Given the description of an element on the screen output the (x, y) to click on. 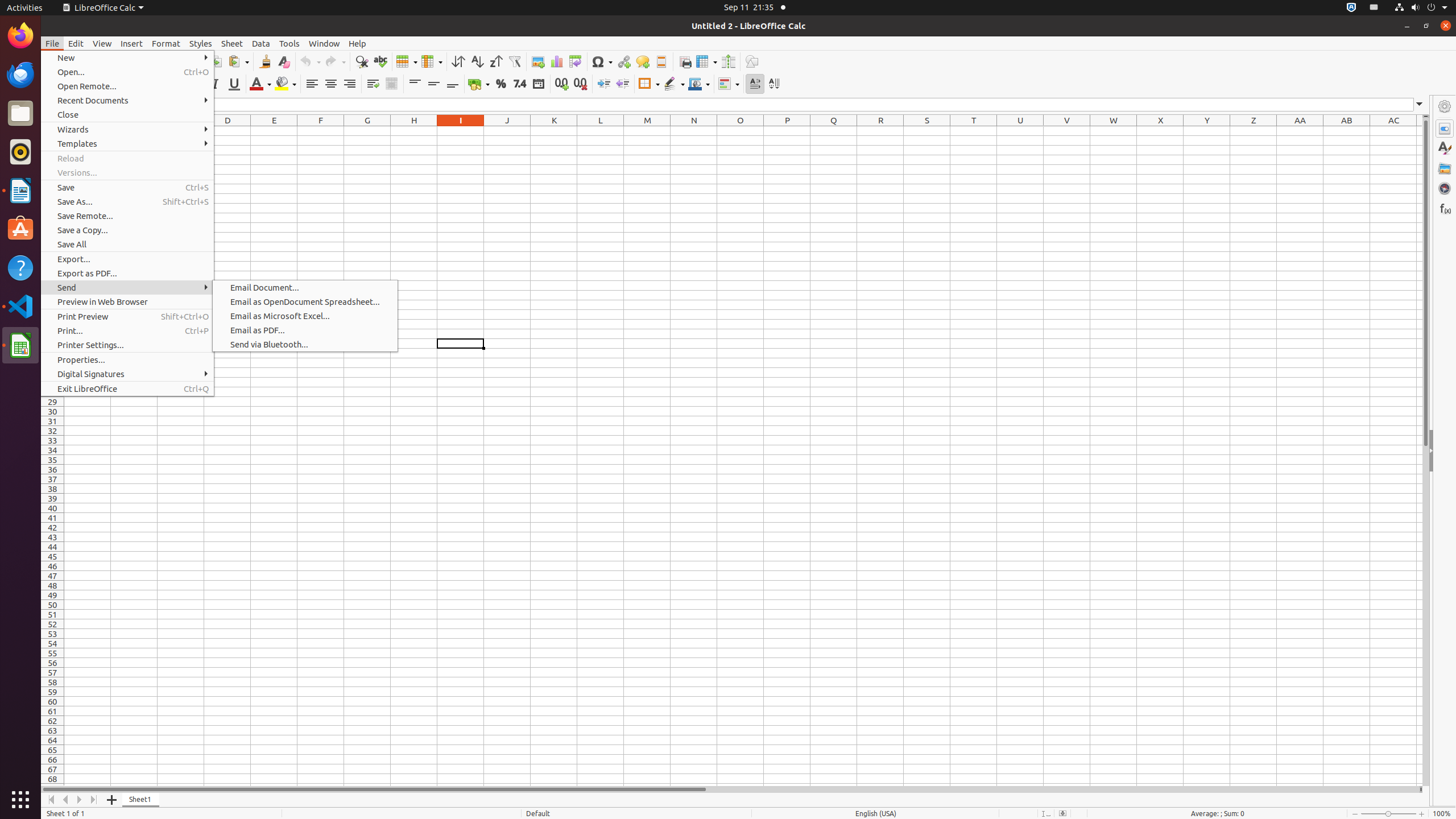
O1 Element type: table-cell (740, 130)
L1 Element type: table-cell (600, 130)
Paste Element type: push-button (237, 61)
Email as PDF... Element type: menu-item (304, 330)
